Given the description of an element on the screen output the (x, y) to click on. 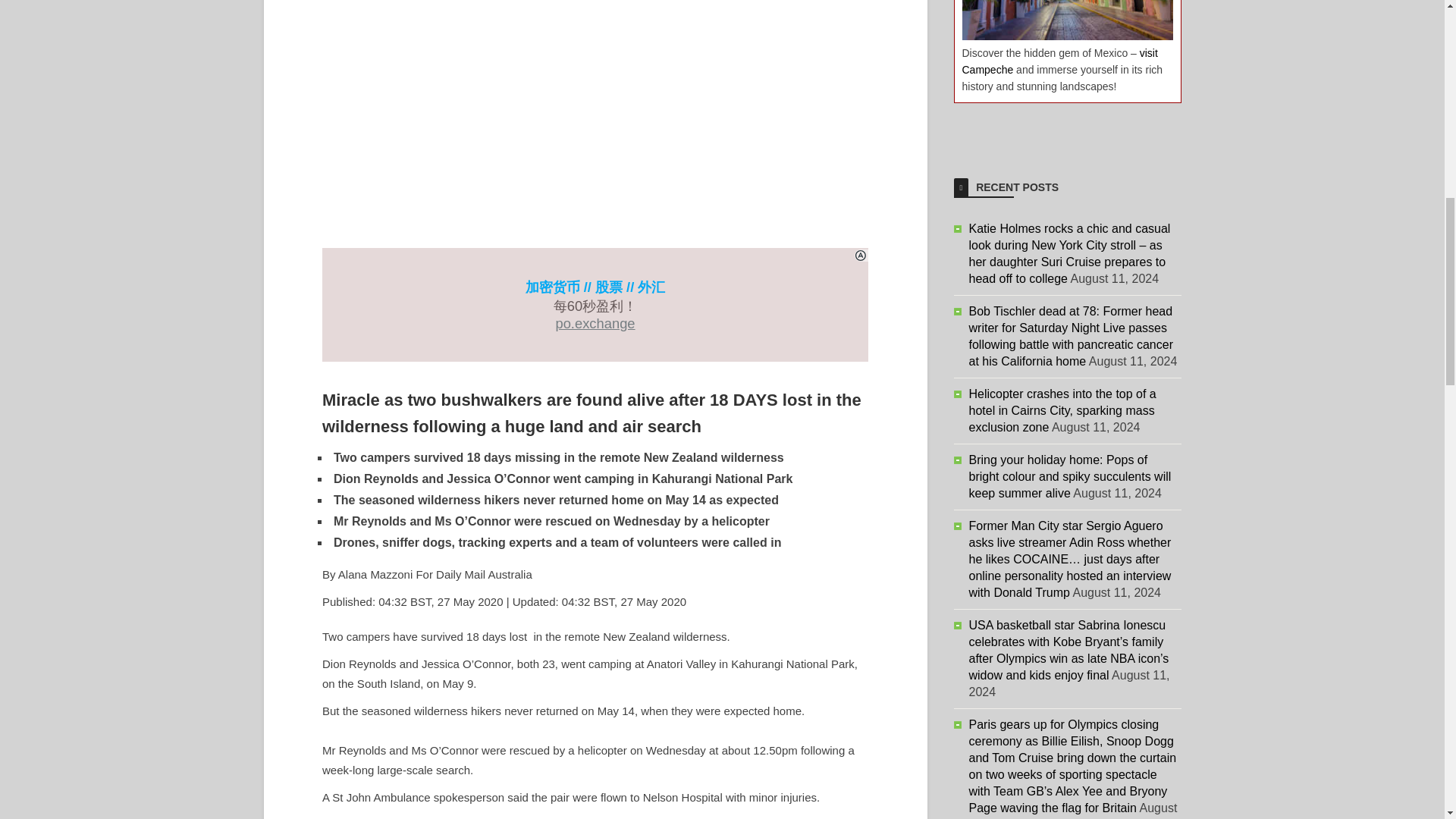
visit Campeche (1058, 61)
